Given the description of an element on the screen output the (x, y) to click on. 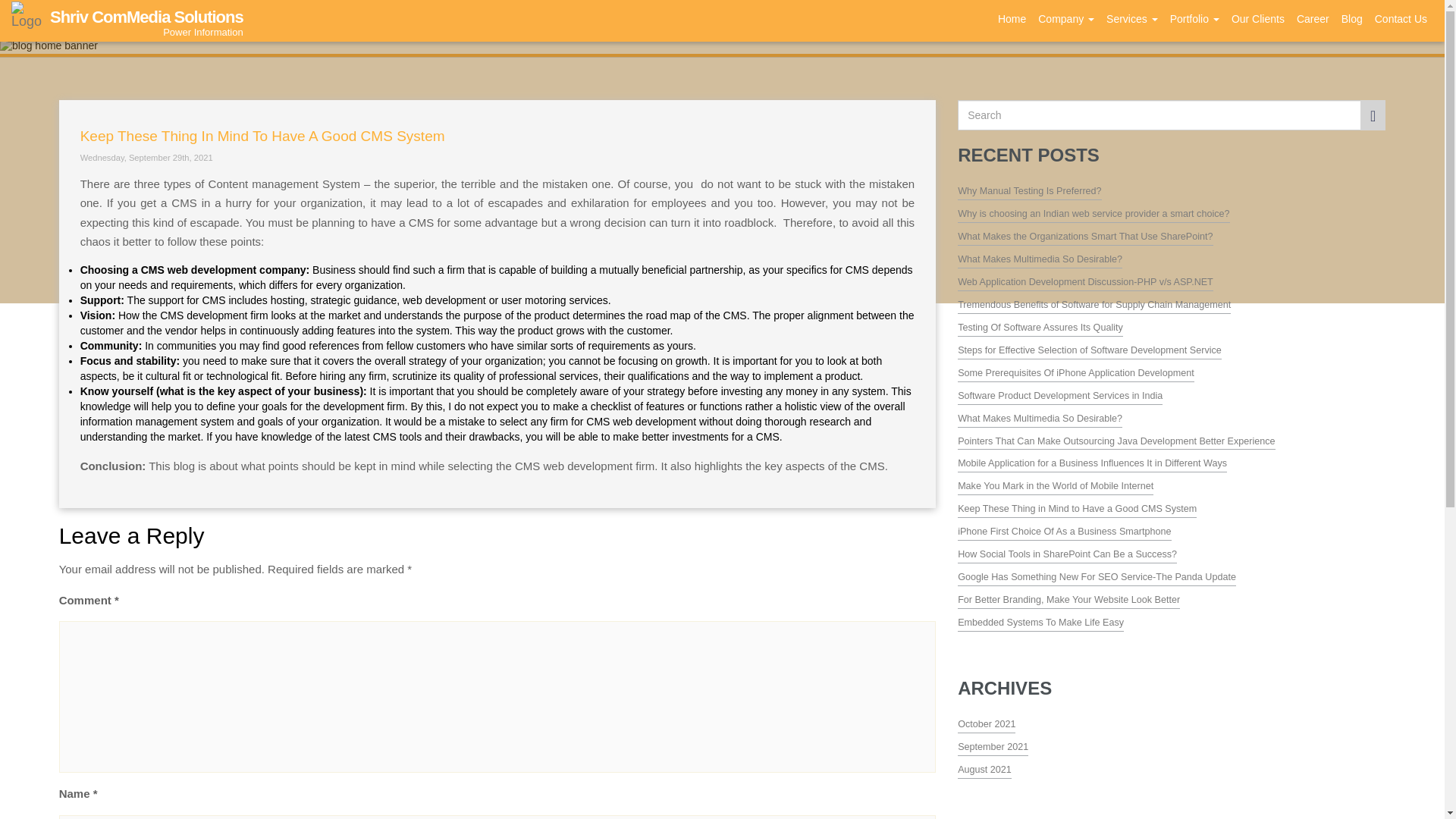
Portfolio (1194, 19)
Home (1011, 19)
Company (1066, 19)
Services (1131, 19)
